Given the description of an element on the screen output the (x, y) to click on. 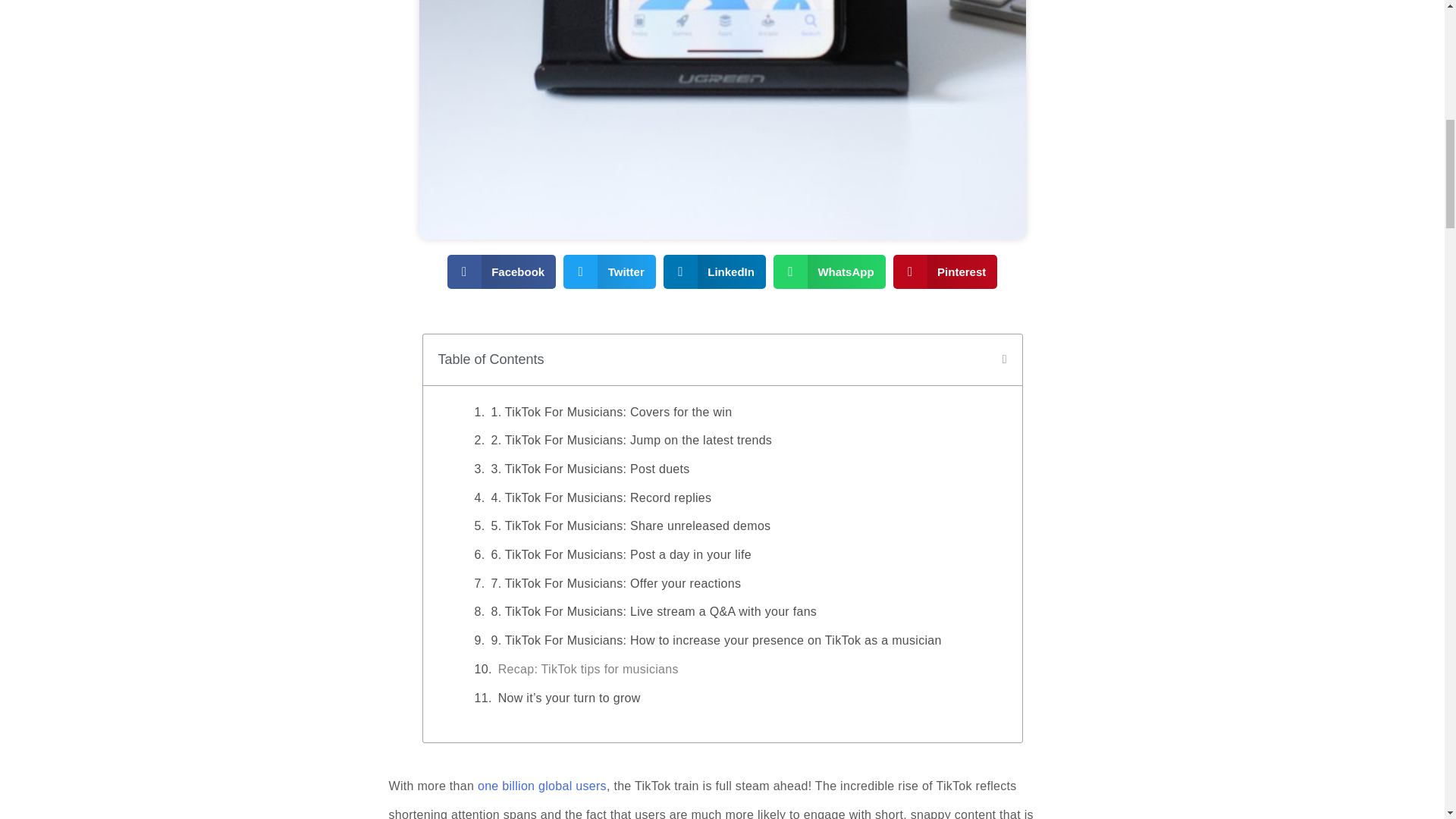
1. TikTok For Musicians: Covers for the win  (612, 412)
5. TikTok For Musicians: Share unreleased demos  (632, 526)
4. TikTok For Musicians: Record replies  (602, 497)
2. TikTok For Musicians: Jump on the latest trends  (632, 440)
6. TikTok For Musicians: Post a day in your life  (622, 554)
3. TikTok For Musicians: Post duets   (593, 468)
7. TikTok For Musicians: Offer your reactions (615, 583)
